Given the description of an element on the screen output the (x, y) to click on. 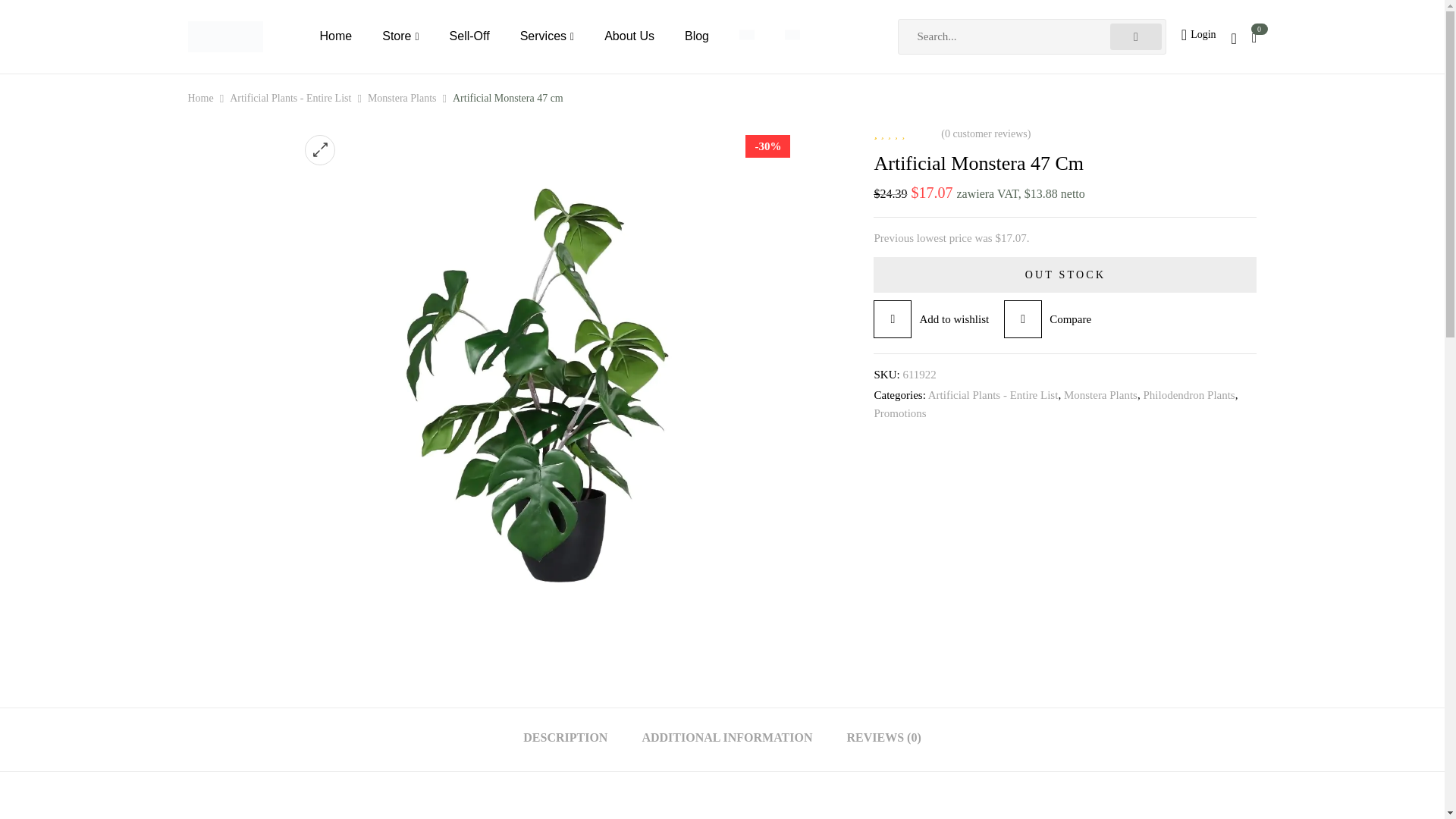
Home (336, 36)
About Us (628, 36)
Compare (1047, 319)
Add to wishlist (930, 319)
Blog (696, 36)
Monstera Plants (1100, 395)
Store (400, 36)
Artificial Plants - Entire List (993, 395)
Home (200, 98)
